Given the description of an element on the screen output the (x, y) to click on. 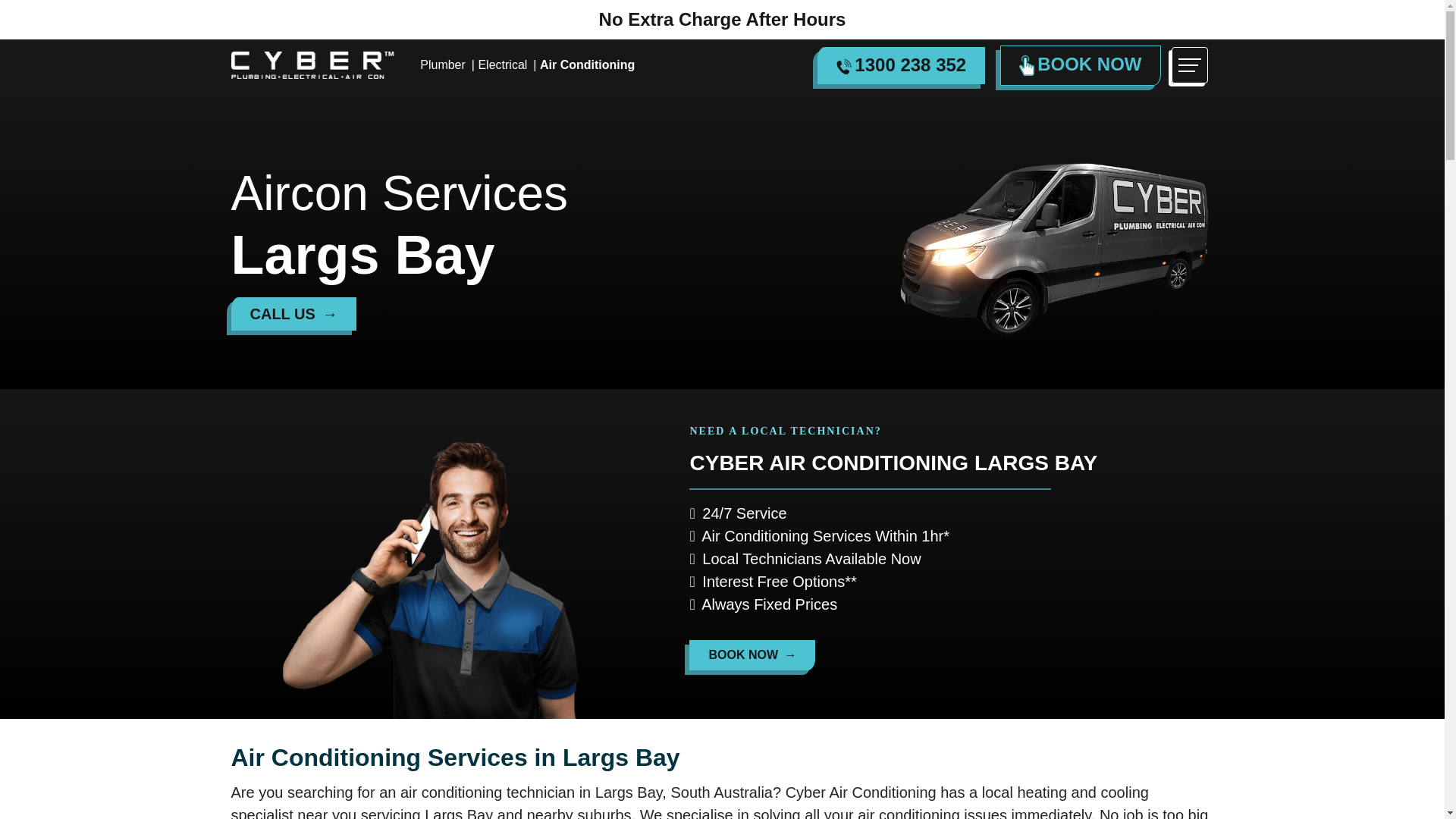
Electrical (502, 64)
Menu (1188, 64)
BOOK NOW (751, 654)
BOOK NOW (1080, 65)
1300 238 352 (900, 65)
Air Conditioning (587, 64)
Plumber (442, 64)
CALL US (293, 313)
No Extra Charge After Hours (721, 19)
